Given the description of an element on the screen output the (x, y) to click on. 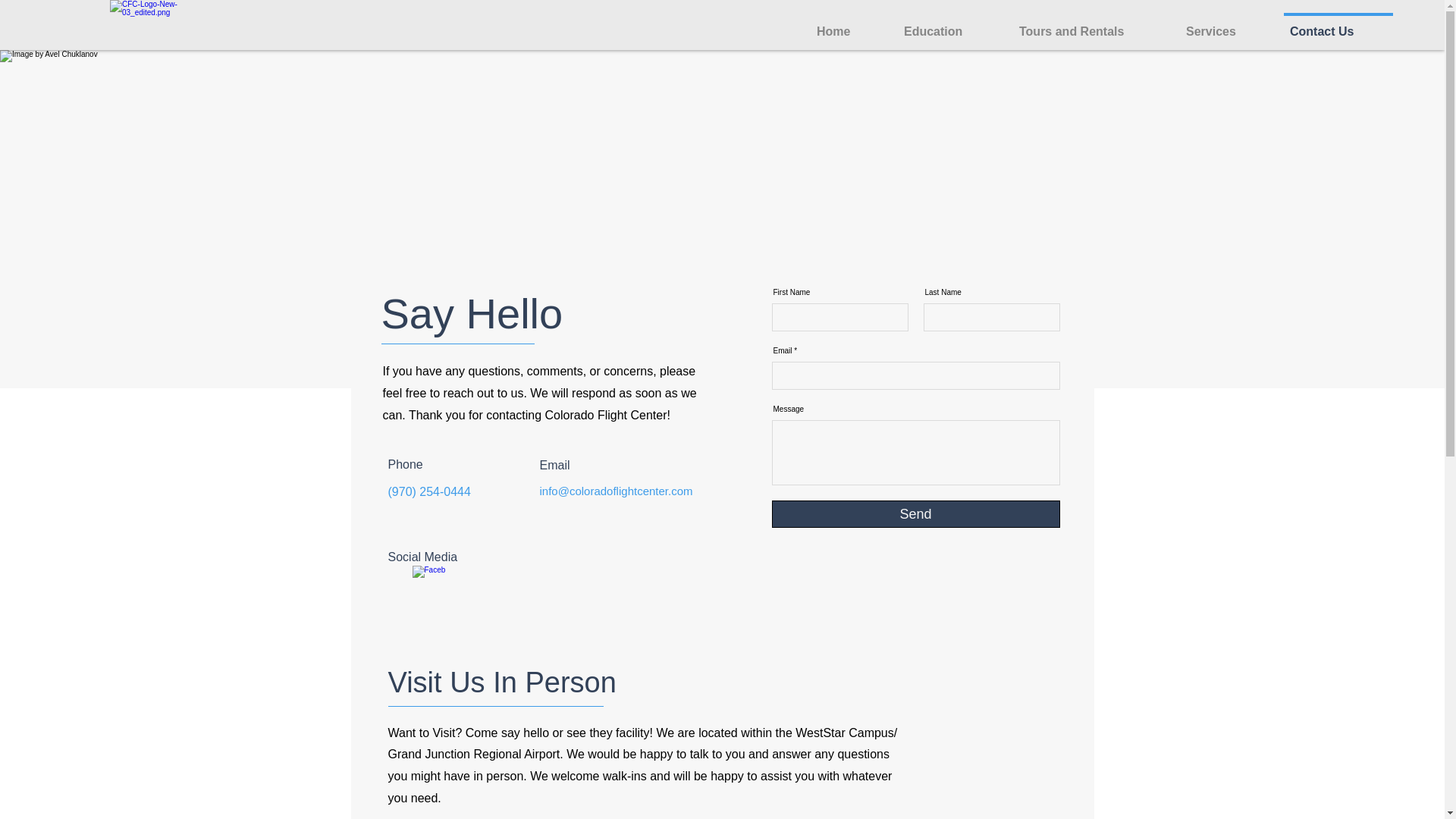
Services (1225, 24)
Home (848, 24)
Contact Us (1338, 24)
Education (949, 24)
Tours and Rentals (1090, 24)
Send (915, 513)
